Given the description of an element on the screen output the (x, y) to click on. 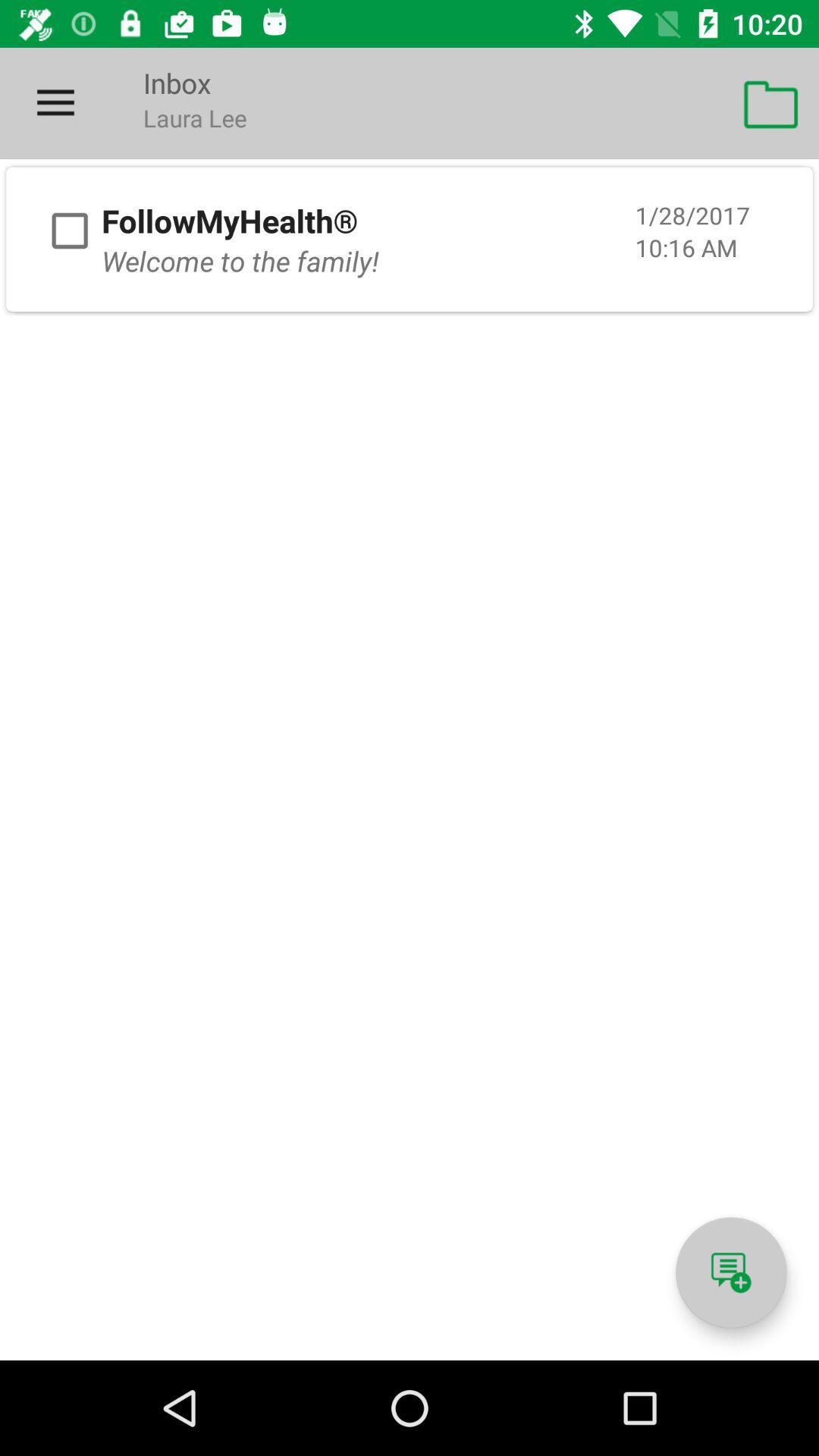
checkbox for email (69, 230)
